Given the description of an element on the screen output the (x, y) to click on. 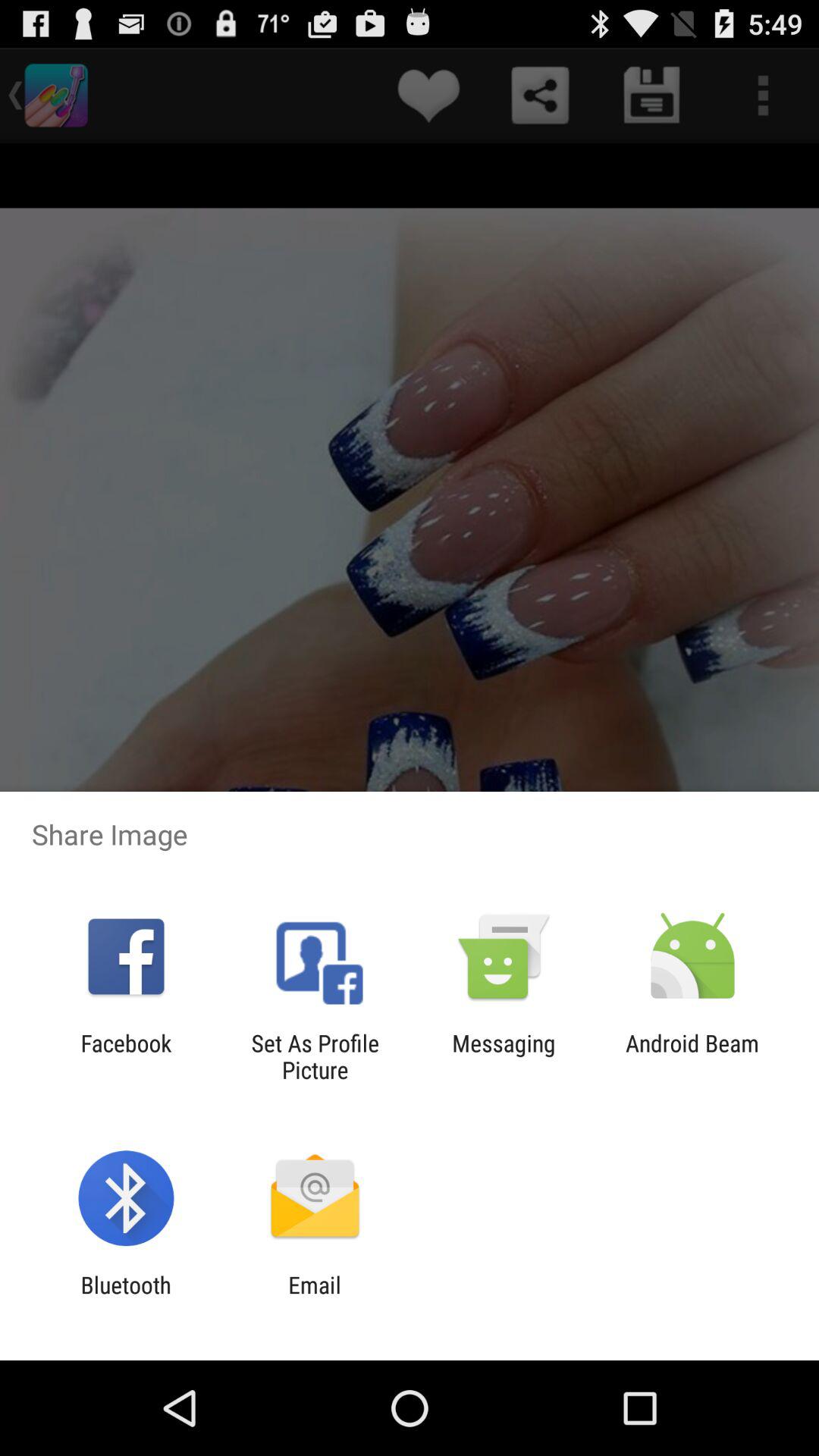
flip until messaging app (503, 1056)
